Given the description of an element on the screen output the (x, y) to click on. 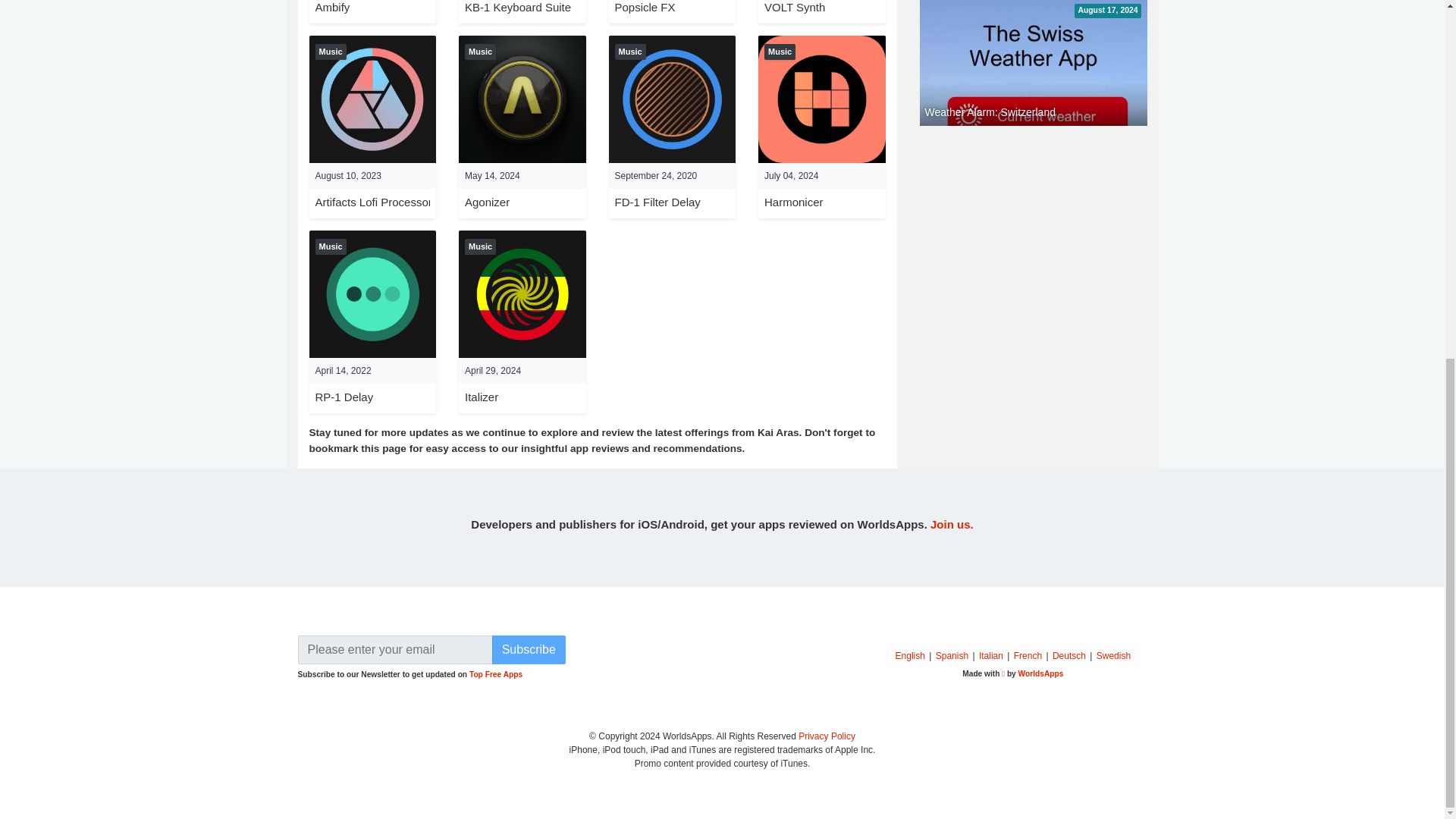
FD-1 Filter Delay (657, 201)
Agonizer (486, 201)
Artifacts Lofi Processor (373, 201)
KB-1 Keyboard Suite (517, 6)
VOLT Synth (794, 6)
FD-1 Filter Delay (671, 97)
Ambify (332, 6)
Popsicle FX (644, 6)
Italizer (480, 396)
Artifacts Lofi Processor (373, 201)
